Given the description of an element on the screen output the (x, y) to click on. 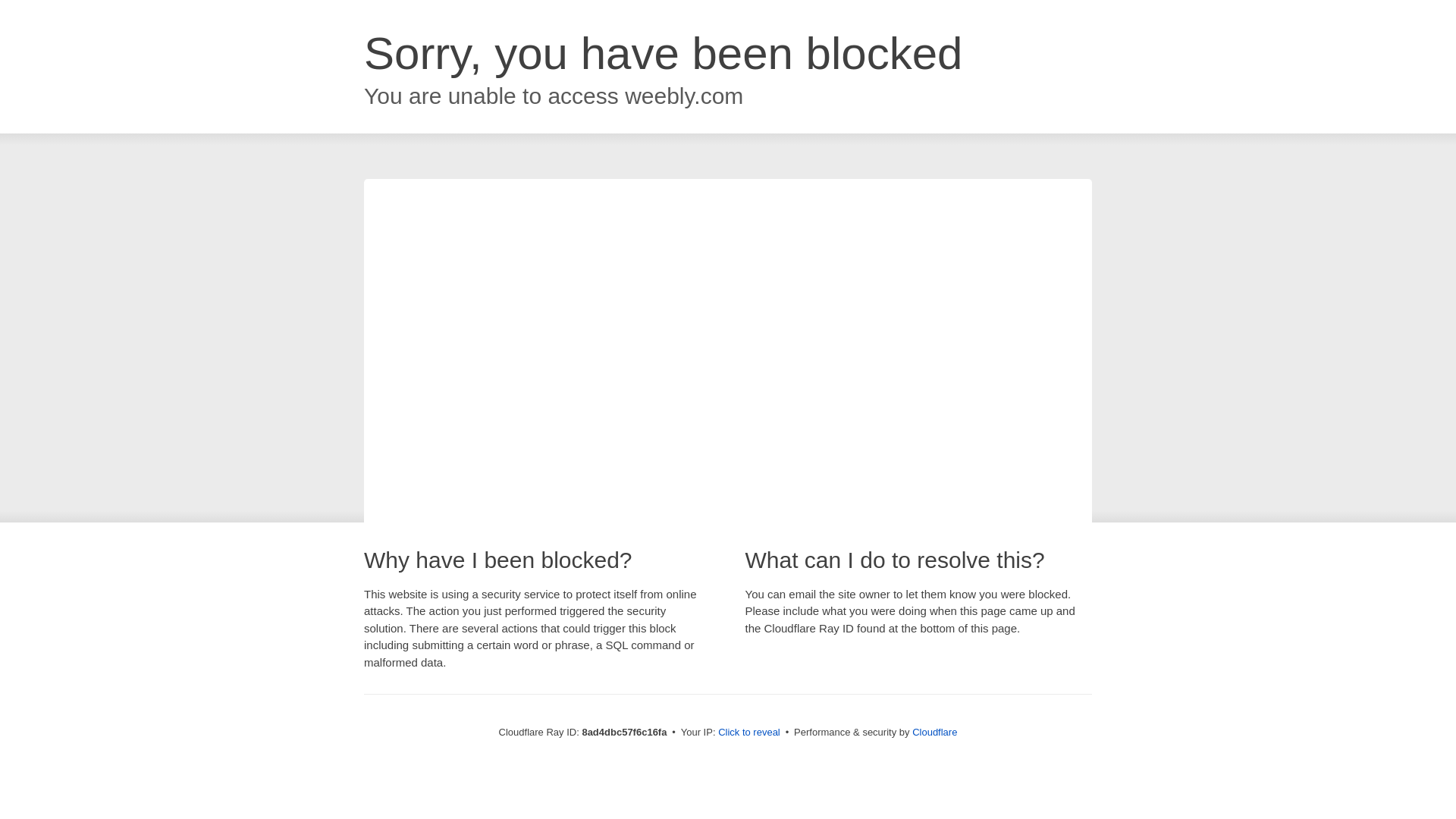
Click to reveal (748, 732)
Cloudflare (934, 731)
